Given the description of an element on the screen output the (x, y) to click on. 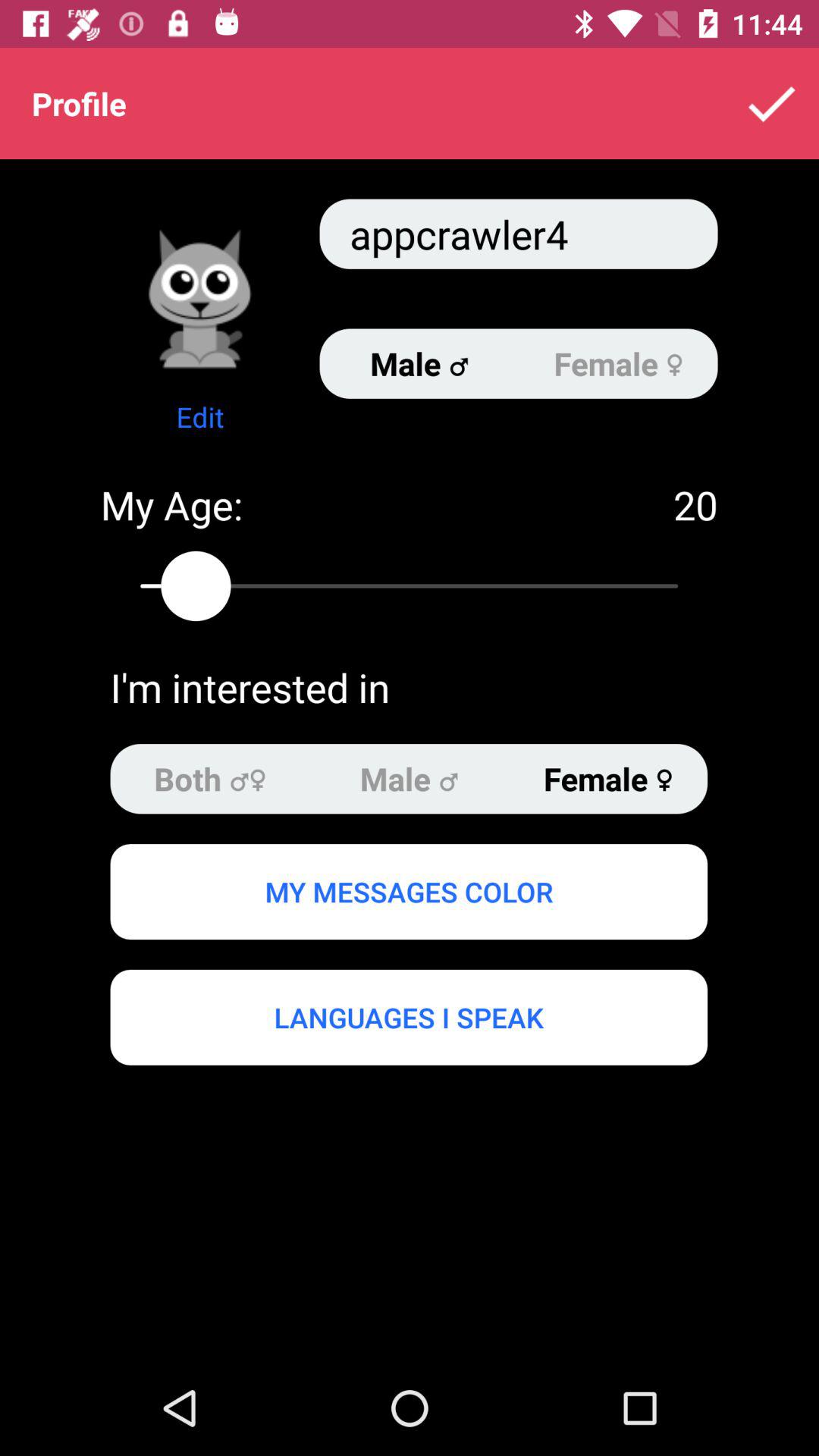
turn on icon next to the profile item (771, 103)
